Given the description of an element on the screen output the (x, y) to click on. 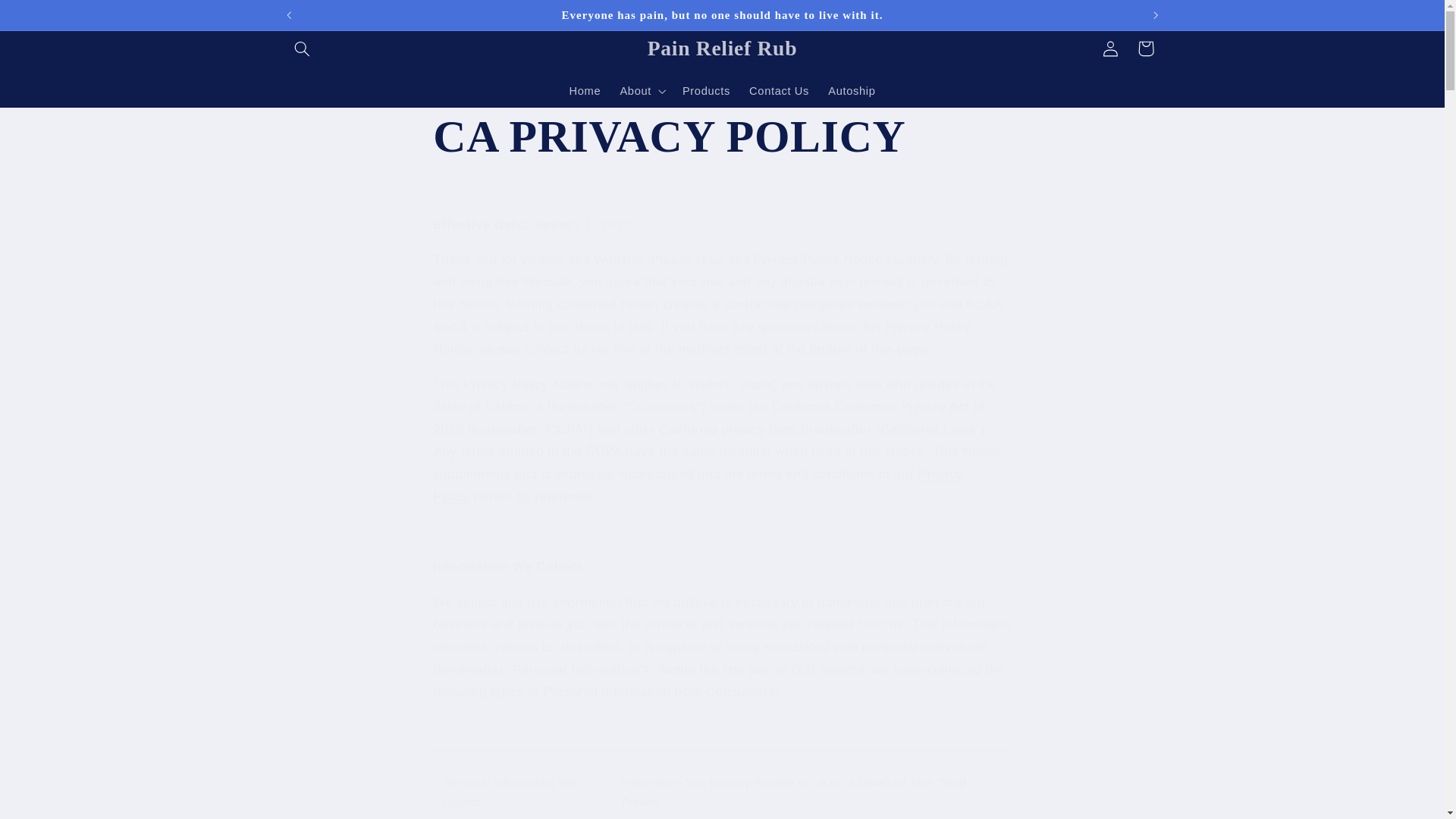
Pain Relief Rub (722, 47)
Privacy Policy (697, 485)
Skip to content (48, 18)
Cart (1145, 48)
Log in (1110, 48)
Contact Us (778, 90)
Home (584, 90)
Autoship (851, 90)
CA PRIVACY POLICY (721, 136)
Products (705, 90)
